Given the description of an element on the screen output the (x, y) to click on. 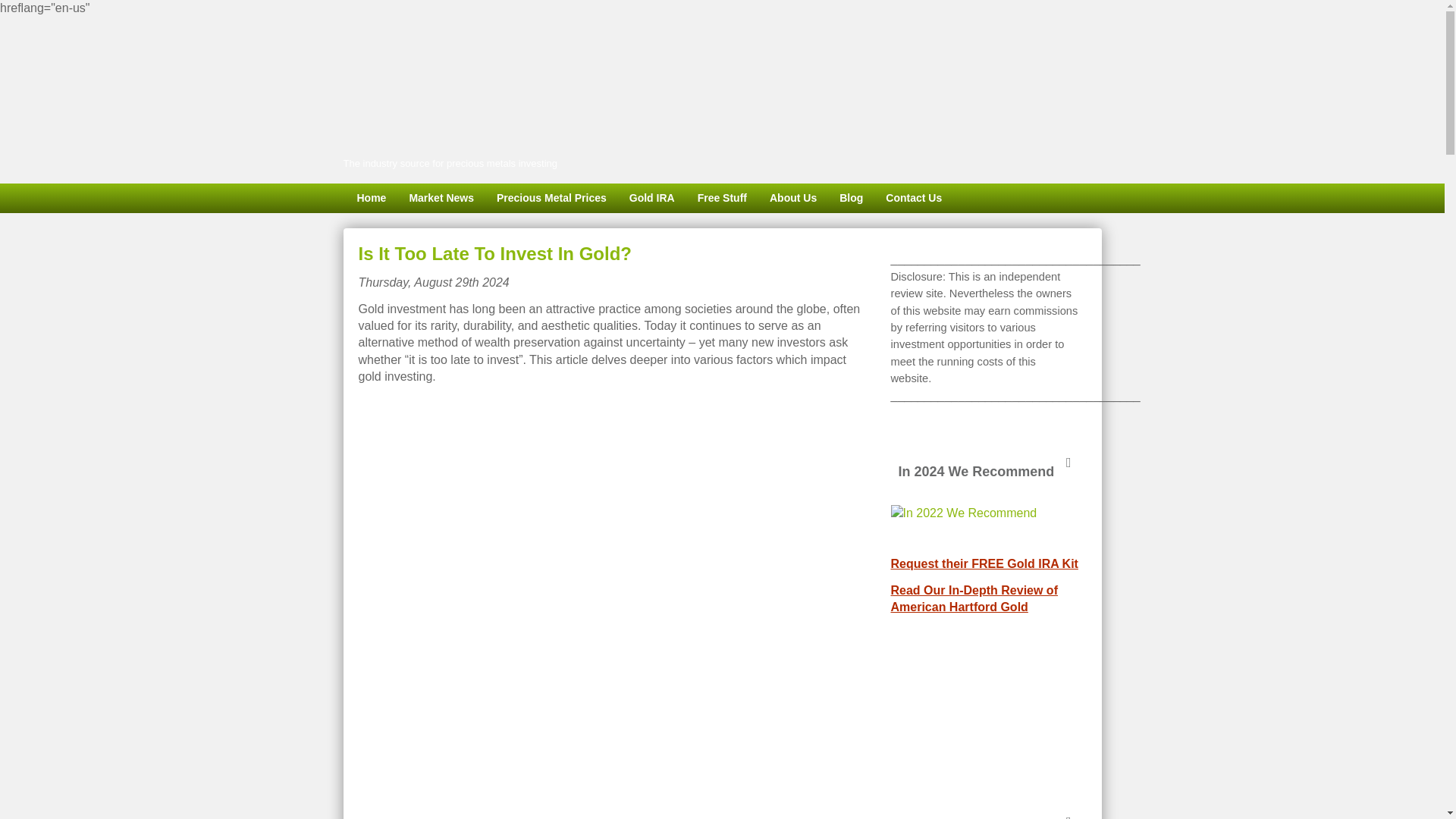
Precious Metal Prices (550, 198)
About Us (793, 198)
Free Stuff (721, 198)
Market News (440, 198)
Blog (851, 198)
Home (369, 198)
Gold IRA (651, 198)
Contact Us (914, 198)
